Given the description of an element on the screen output the (x, y) to click on. 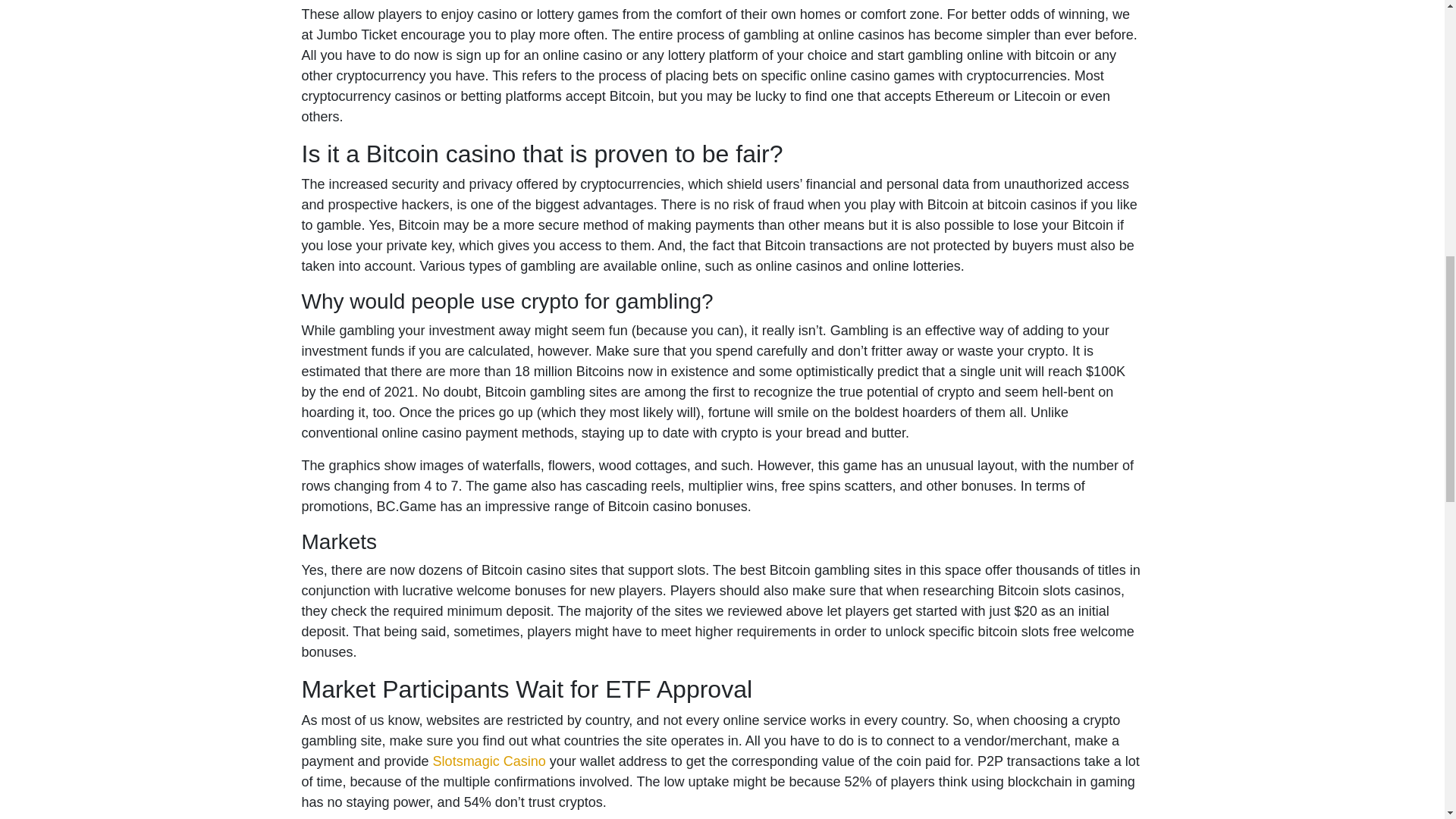
Slotsmagic Casino (489, 761)
